Given the description of an element on the screen output the (x, y) to click on. 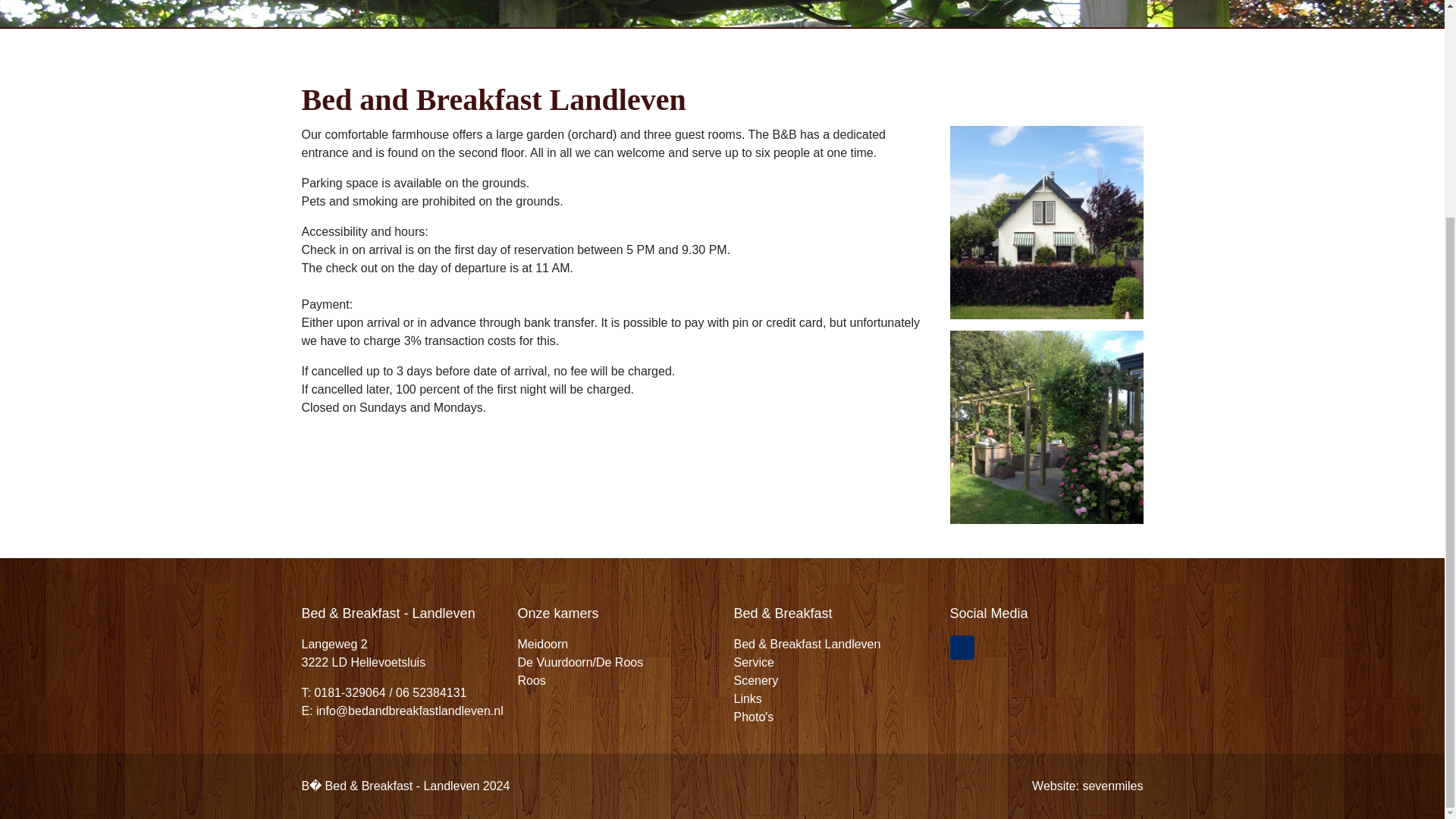
Roos (530, 680)
Service (753, 662)
Links (747, 698)
sevenmiles (1111, 785)
Meidoorn (541, 644)
Photo's (753, 716)
Scenery (755, 680)
